Given the description of an element on the screen output the (x, y) to click on. 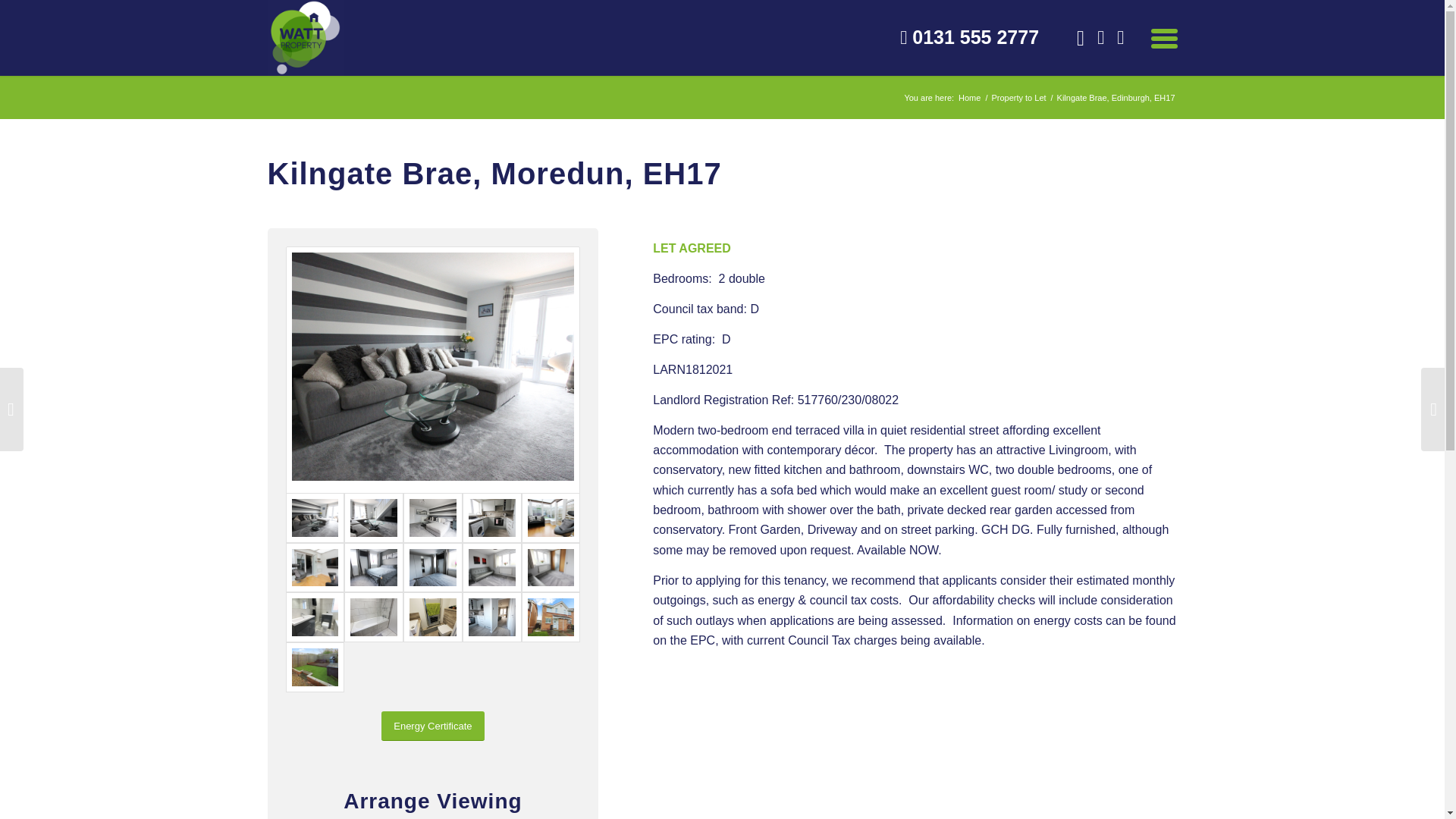
Lounge (373, 517)
watt-property-management (304, 38)
Lounge (432, 369)
Watt Property Edinburgh (969, 98)
Living Room 1 (432, 366)
Lounge (314, 517)
Home (969, 98)
Property to Let (1018, 98)
Lounge (433, 517)
Property to Let (1018, 98)
